Given the description of an element on the screen output the (x, y) to click on. 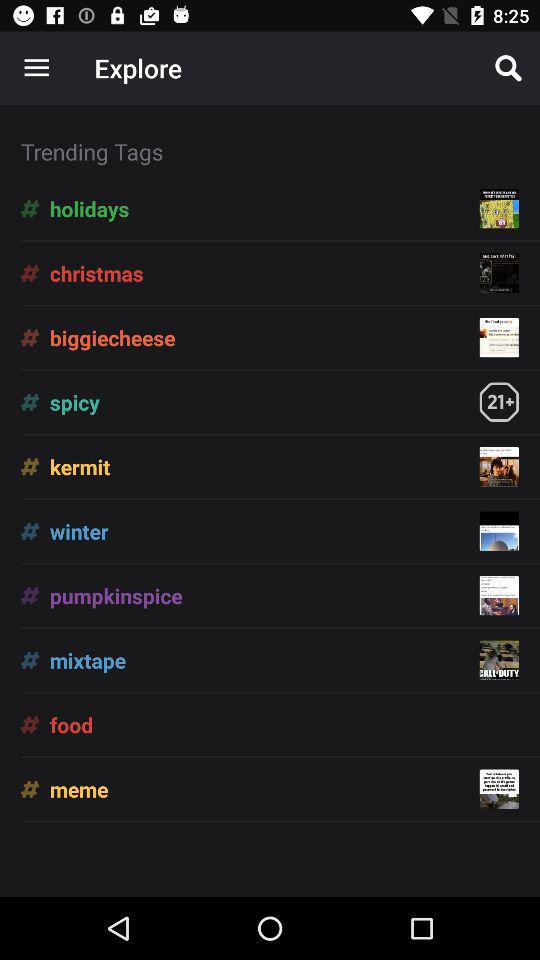
press item to the left of explore icon (36, 68)
